Given the description of an element on the screen output the (x, y) to click on. 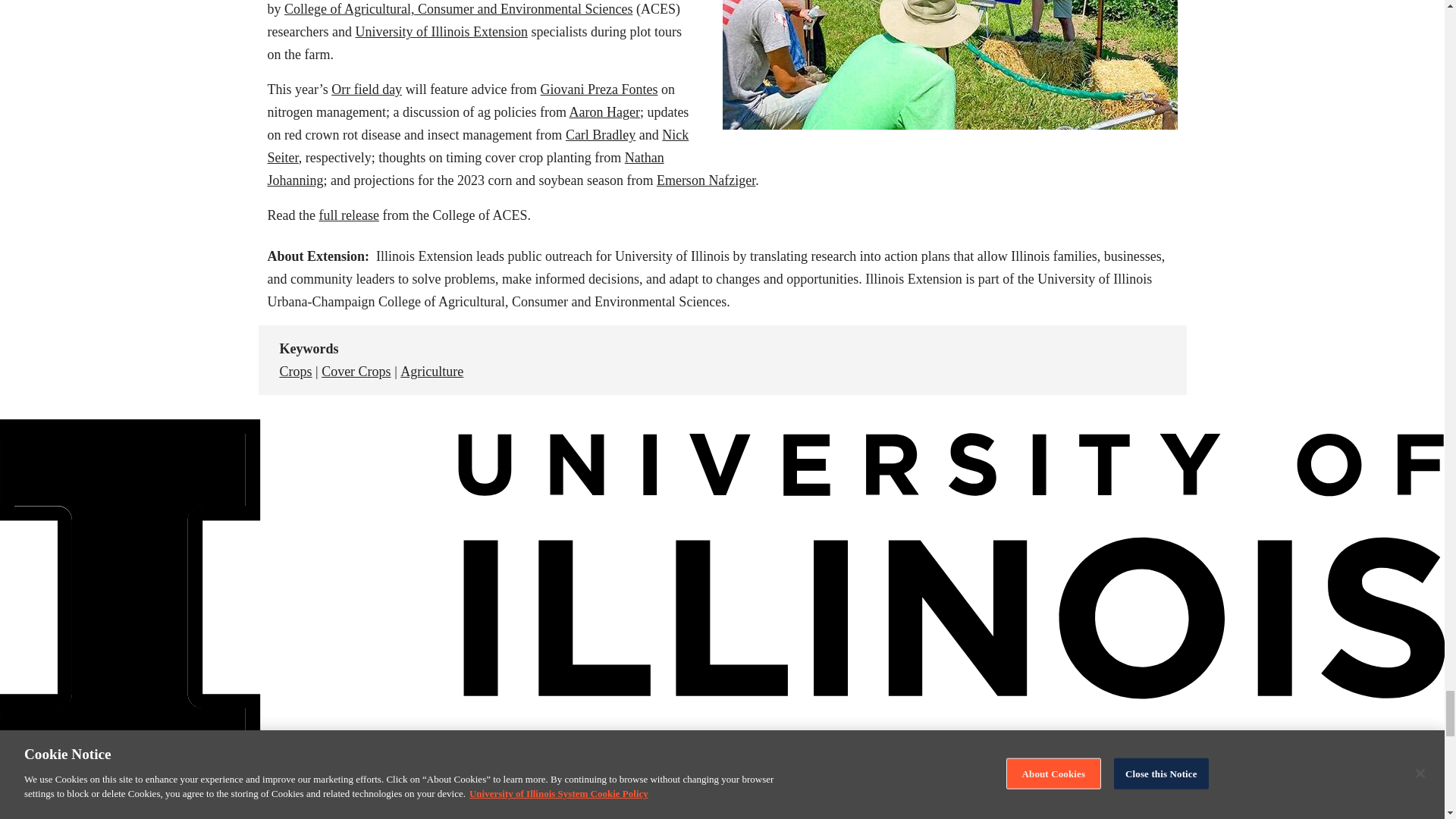
Share to Linkedin (1085, 359)
Share to Email (1121, 359)
Share to X (1048, 359)
Share to Facebook (1012, 359)
